Given the description of an element on the screen output the (x, y) to click on. 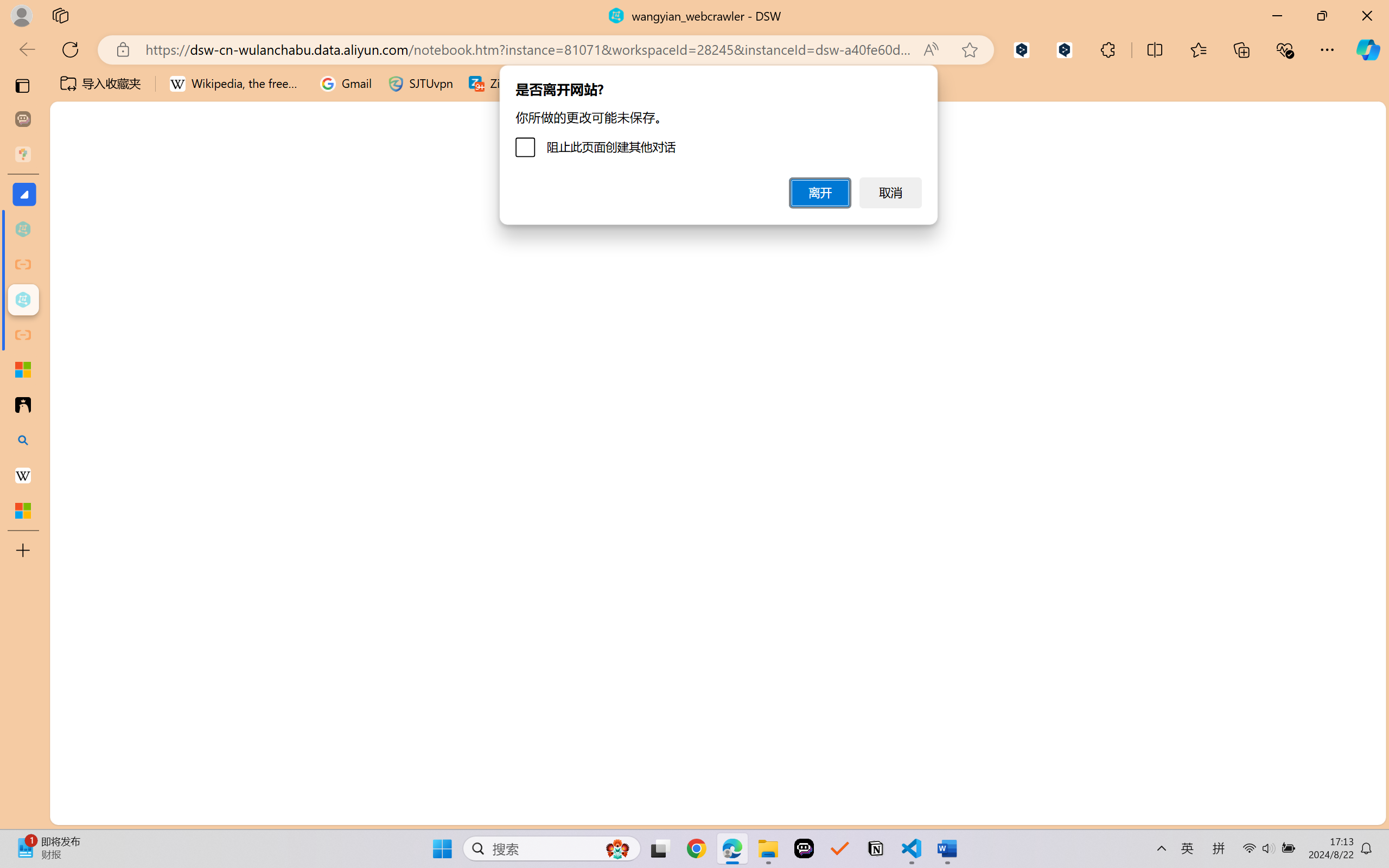
Earth - Wikipedia (22, 475)
